Given the description of an element on the screen output the (x, y) to click on. 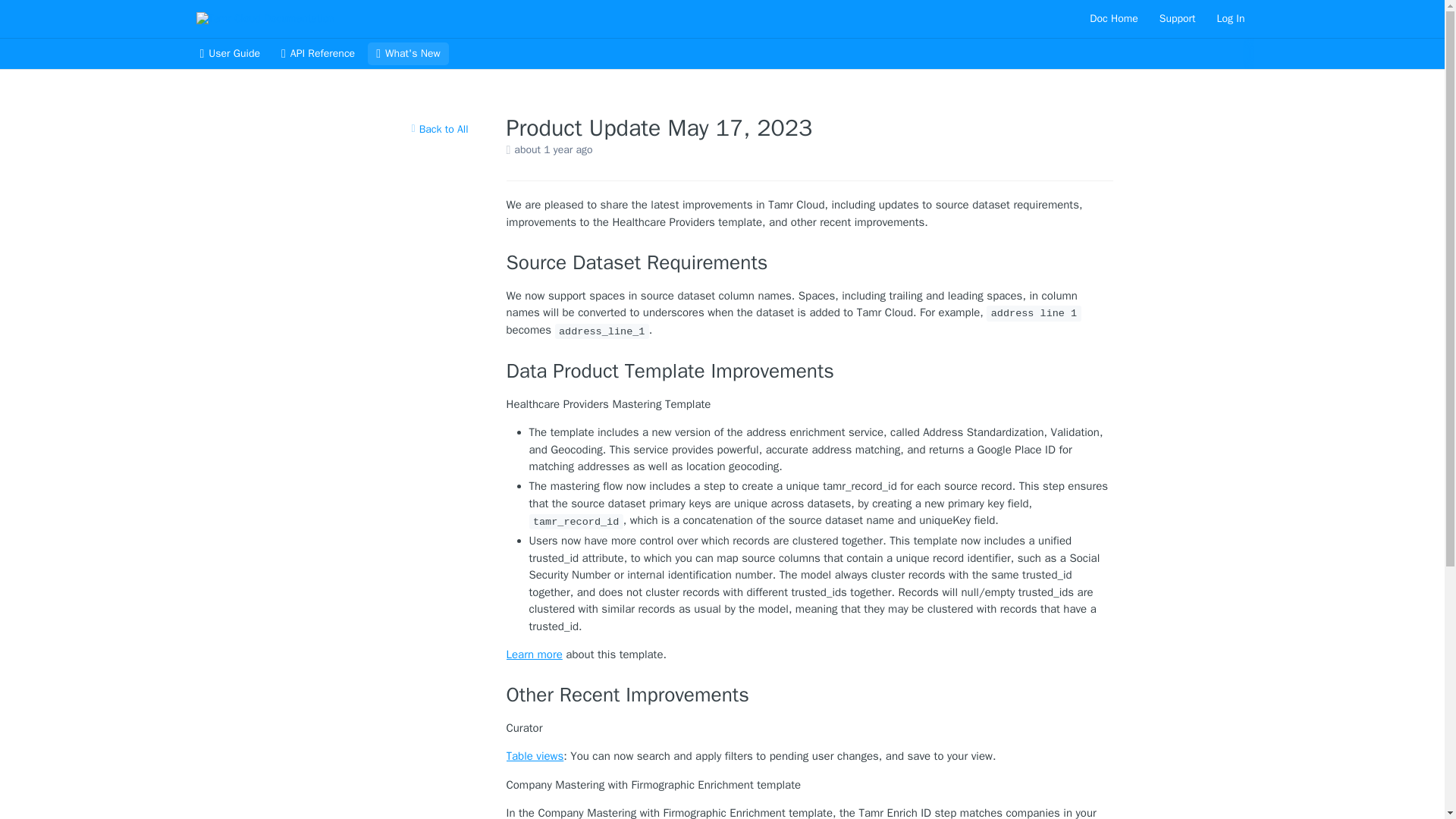
Doc Home (1113, 18)
What's New (408, 53)
API Reference (317, 53)
Source Dataset Requirements (809, 263)
Back to All (439, 128)
Table views (535, 755)
Log In (1230, 18)
Support (1177, 18)
User Guide (228, 53)
Data Product Template Improvements (809, 371)
